Given the description of an element on the screen output the (x, y) to click on. 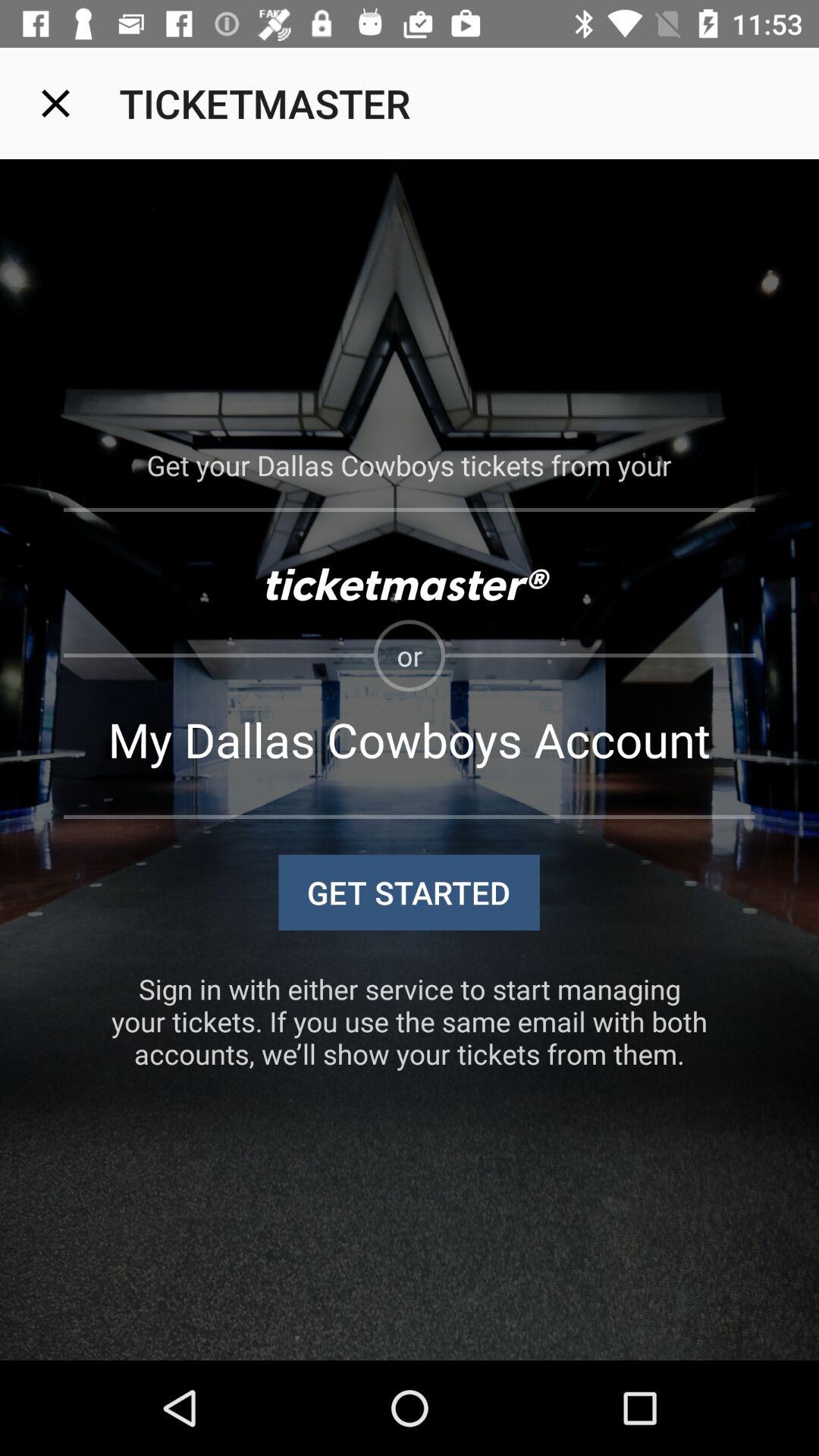
exit app (55, 103)
